Given the description of an element on the screen output the (x, y) to click on. 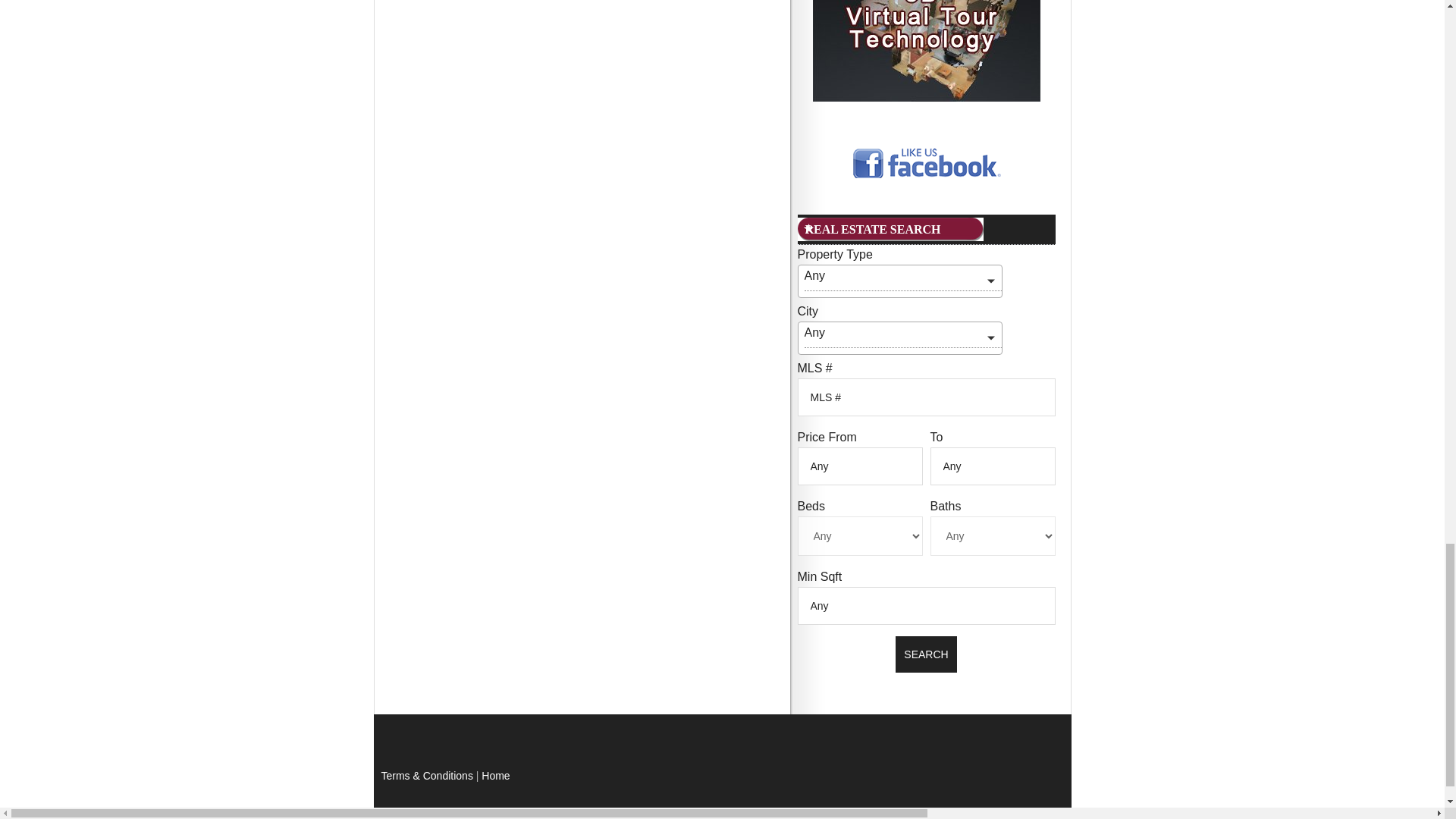
Search (925, 654)
